Given the description of an element on the screen output the (x, y) to click on. 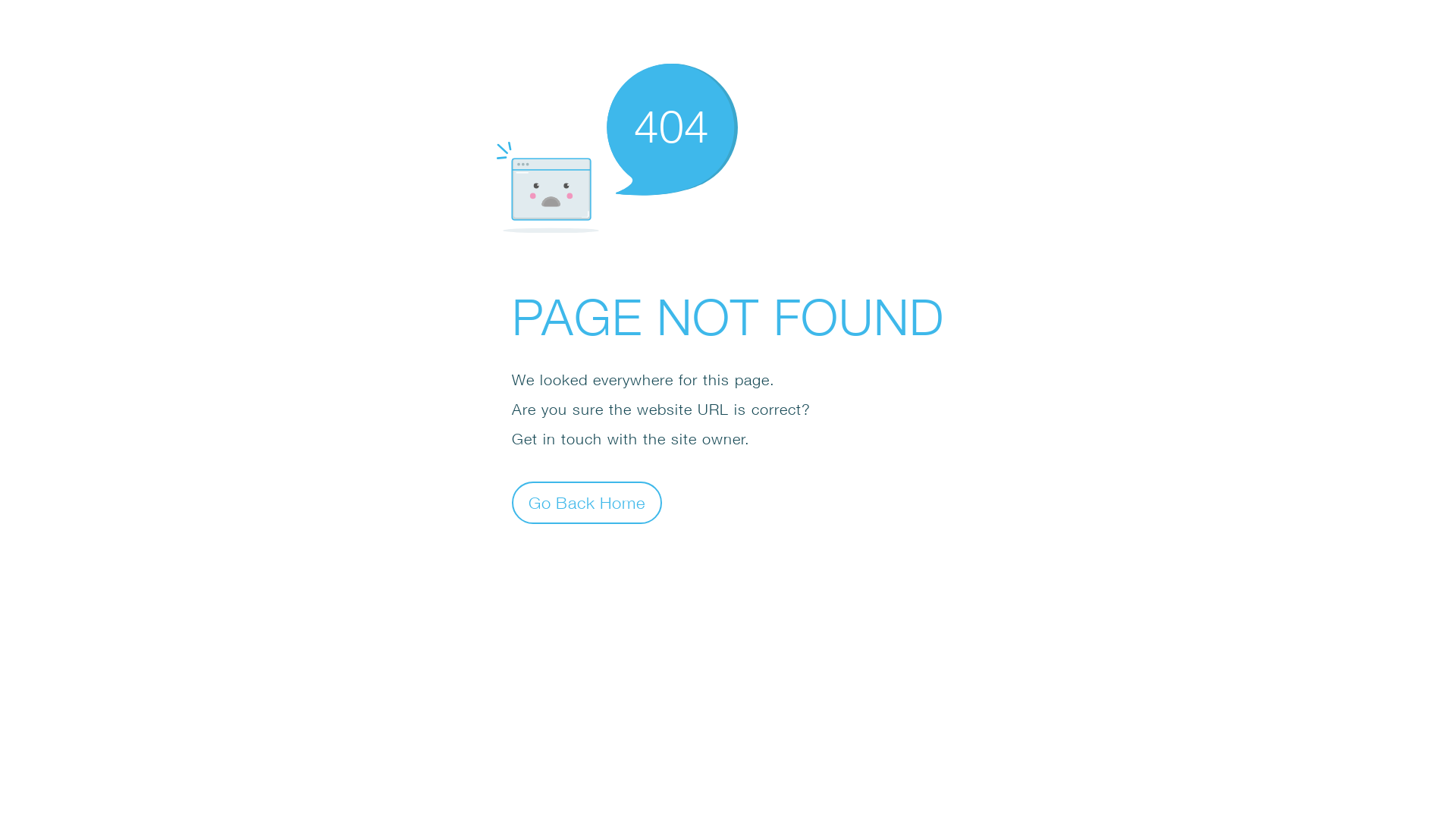
Go Back Home Element type: text (586, 502)
